Given the description of an element on the screen output the (x, y) to click on. 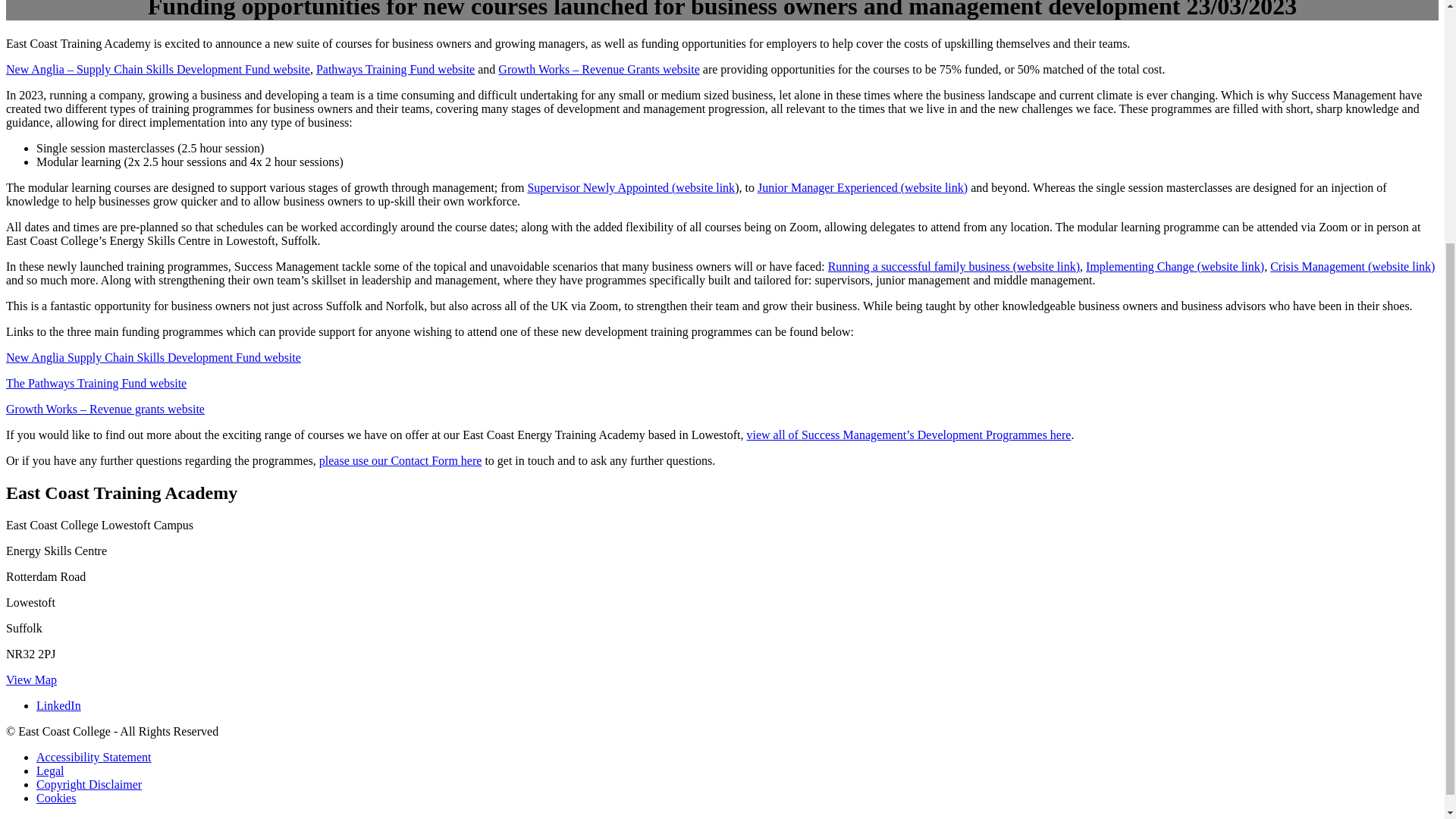
LinkedIn (58, 705)
Legal (50, 770)
New Anglia Supply Chain Skills Development Fund website (153, 357)
Accessibility Statement (93, 757)
Cookies (55, 797)
please use our Contact Form here (399, 460)
The Pathways Training Fund website (95, 382)
Pathways Training Fund website (394, 69)
Copyright Disclaimer (88, 784)
View Map (30, 679)
